Given the description of an element on the screen output the (x, y) to click on. 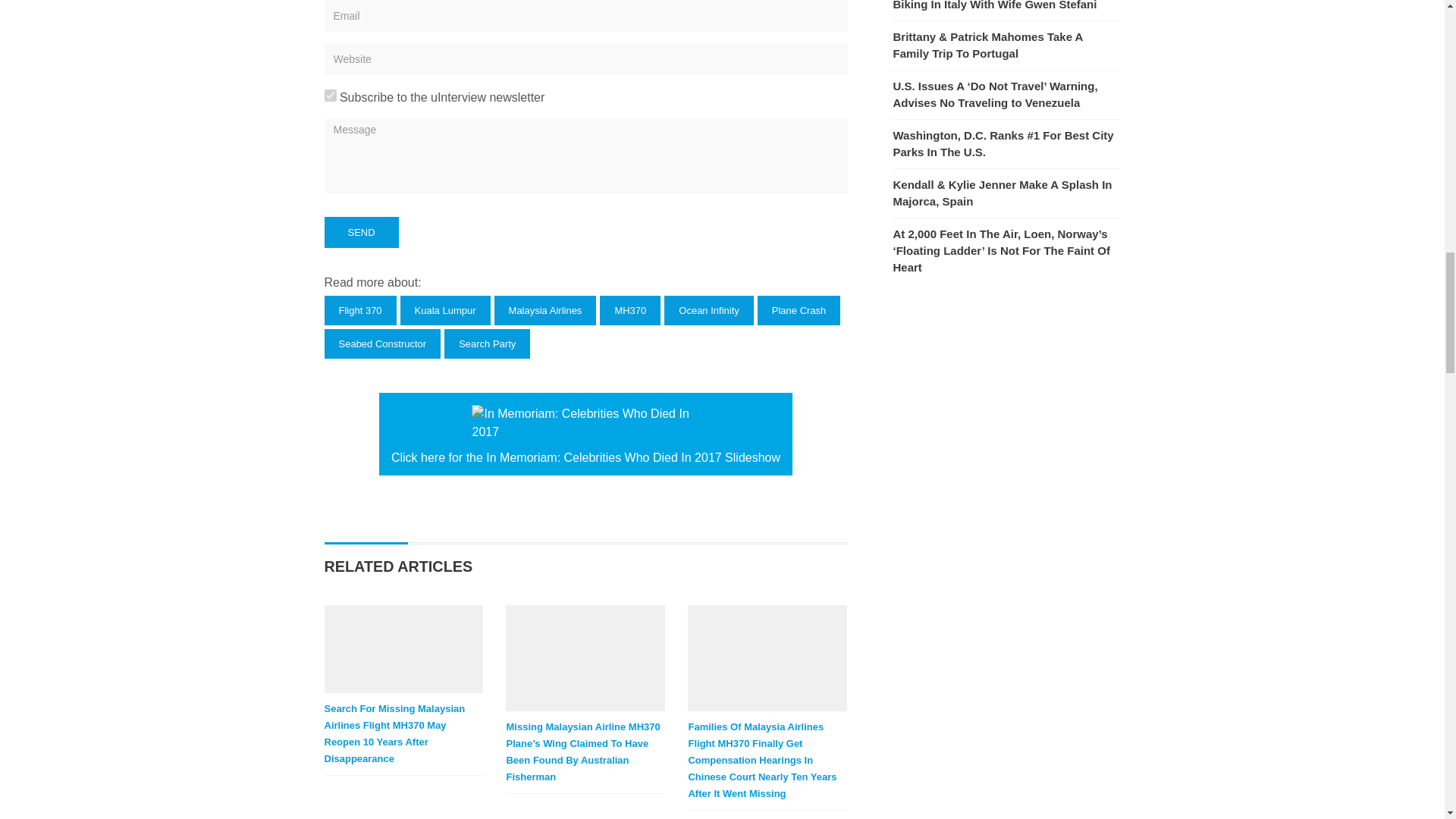
Flight 370 (360, 310)
Kuala Lumpur (445, 310)
MH370 (630, 310)
Send (361, 232)
Send (361, 232)
Ocean Infinity (708, 310)
Malaysia Airlines (545, 310)
on (330, 95)
